Given the description of an element on the screen output the (x, y) to click on. 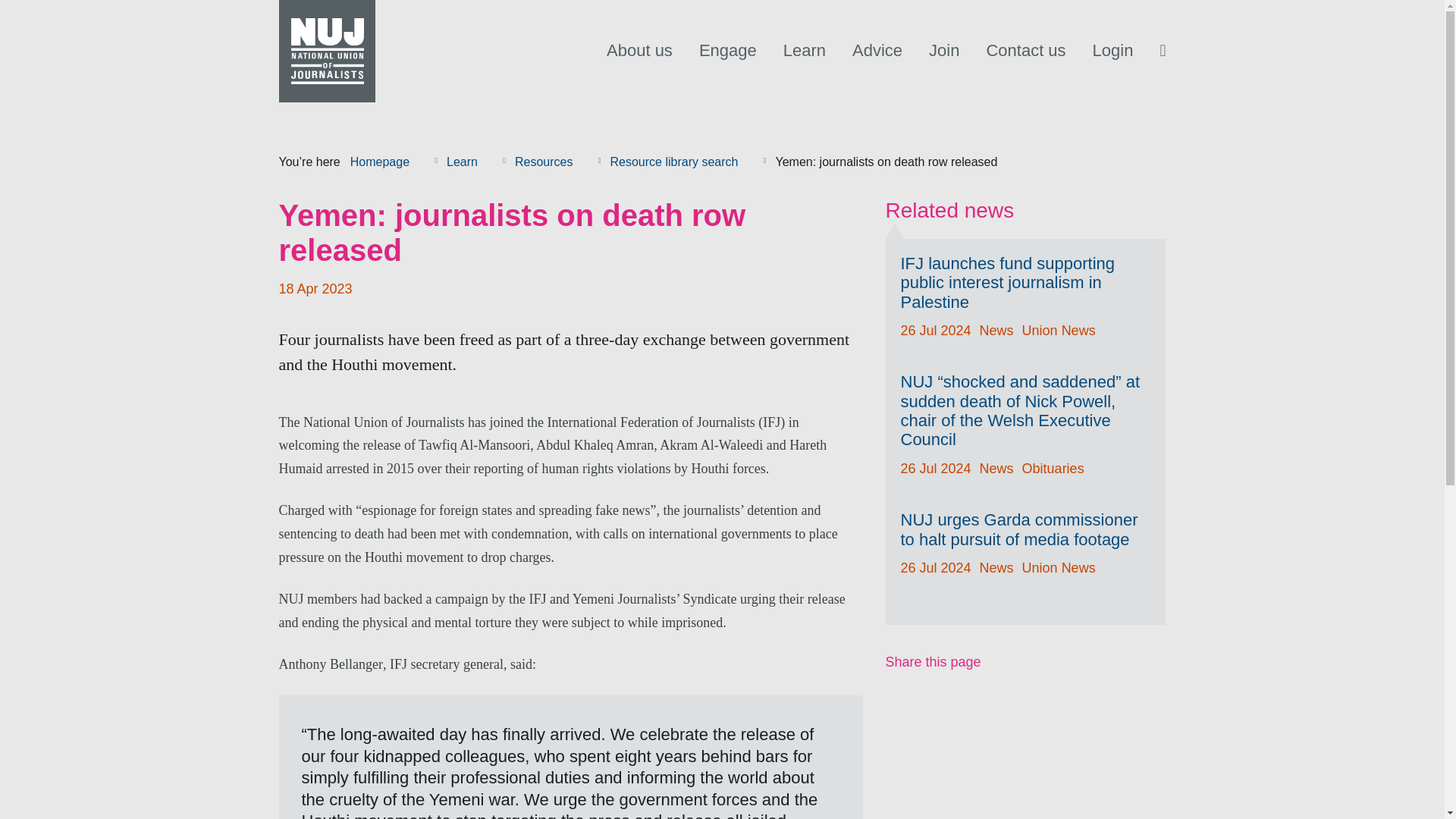
Skip to content (328, 119)
Accessibility (322, 119)
About us (639, 50)
